Given the description of an element on the screen output the (x, y) to click on. 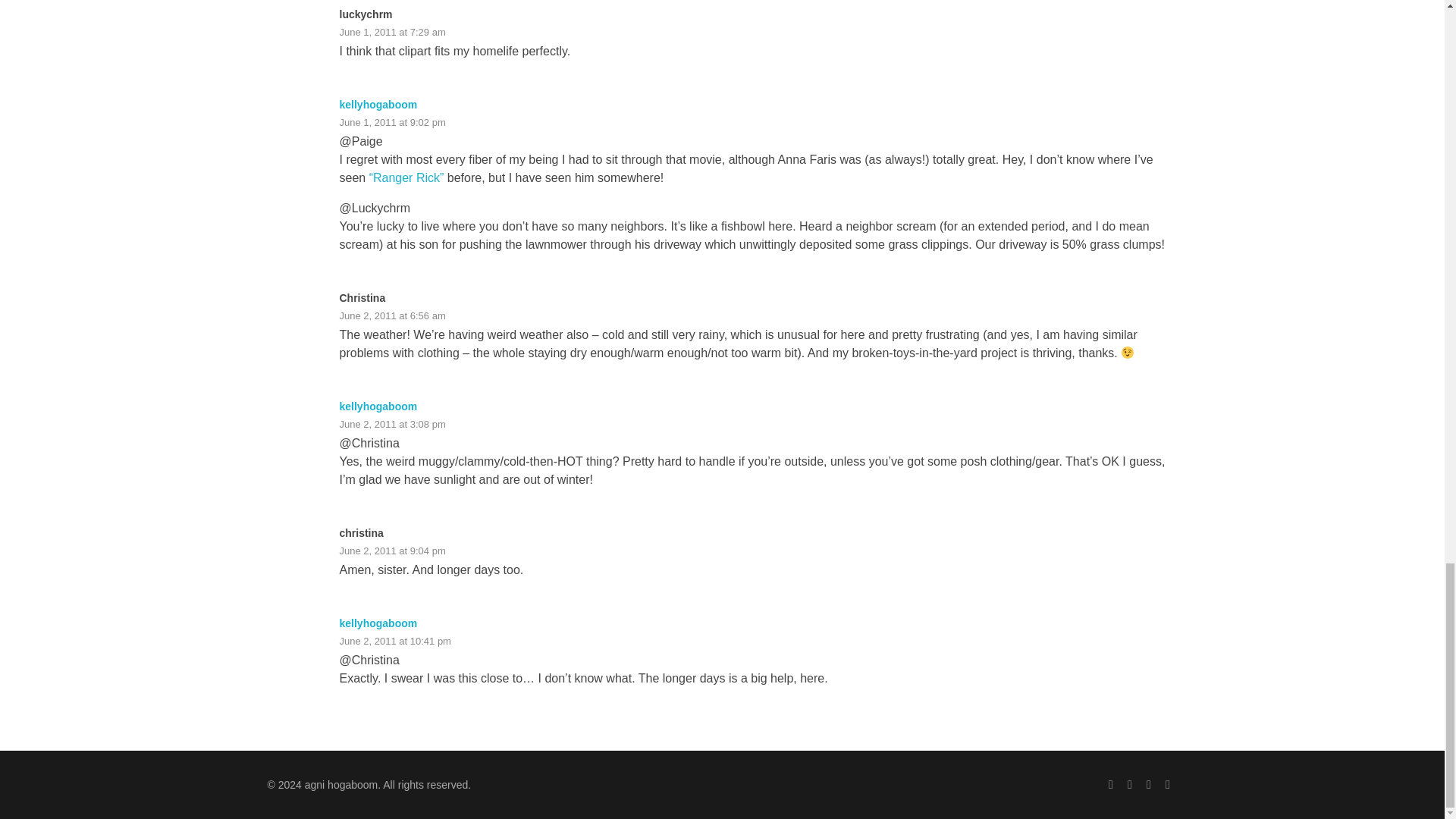
kellyhogaboom (378, 104)
June 2, 2011 at 10:41 pm (395, 641)
kellyhogaboom (378, 623)
June 2, 2011 at 3:08 pm (392, 423)
kellyhogaboom (378, 406)
June 2, 2011 at 6:56 am (392, 315)
June 1, 2011 at 9:02 pm (392, 122)
June 1, 2011 at 7:29 am (392, 31)
June 2, 2011 at 9:04 pm (392, 550)
